Given the description of an element on the screen output the (x, y) to click on. 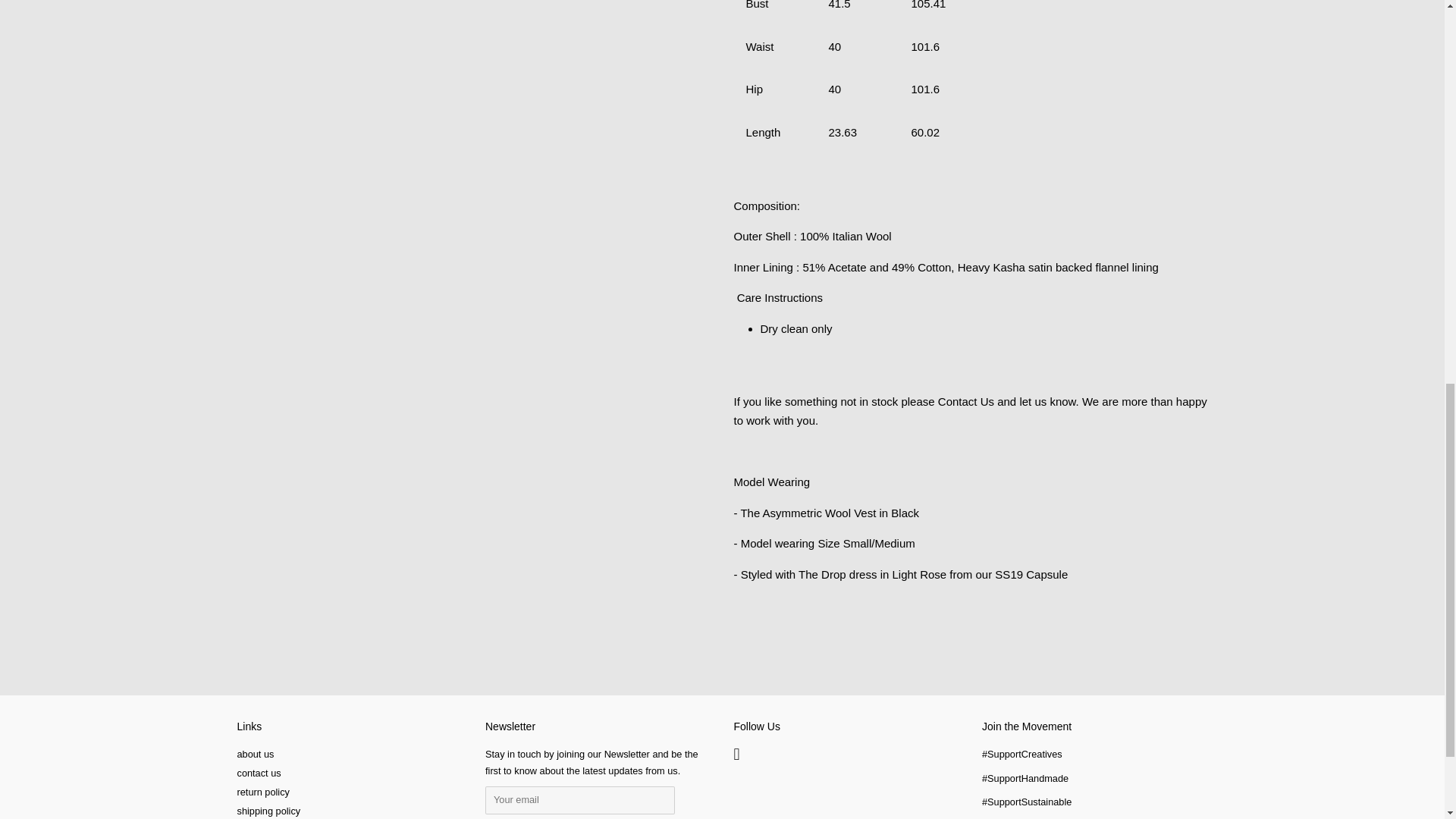
return policy (261, 791)
Contact Us (965, 400)
shipping policy (267, 810)
contact us (258, 772)
about us (254, 754)
